Given the description of an element on the screen output the (x, y) to click on. 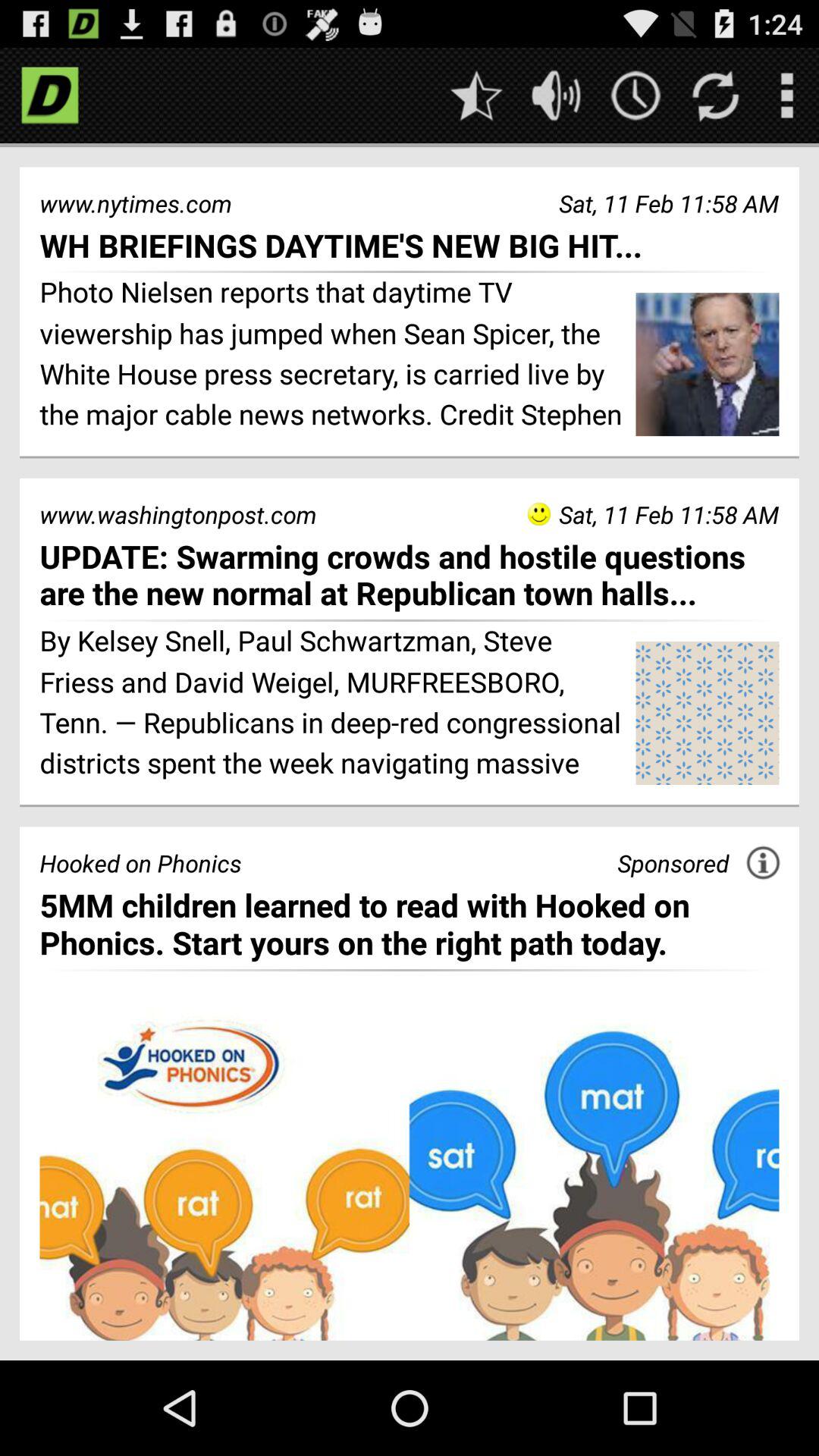
view starred pages (476, 95)
